Given the description of an element on the screen output the (x, y) to click on. 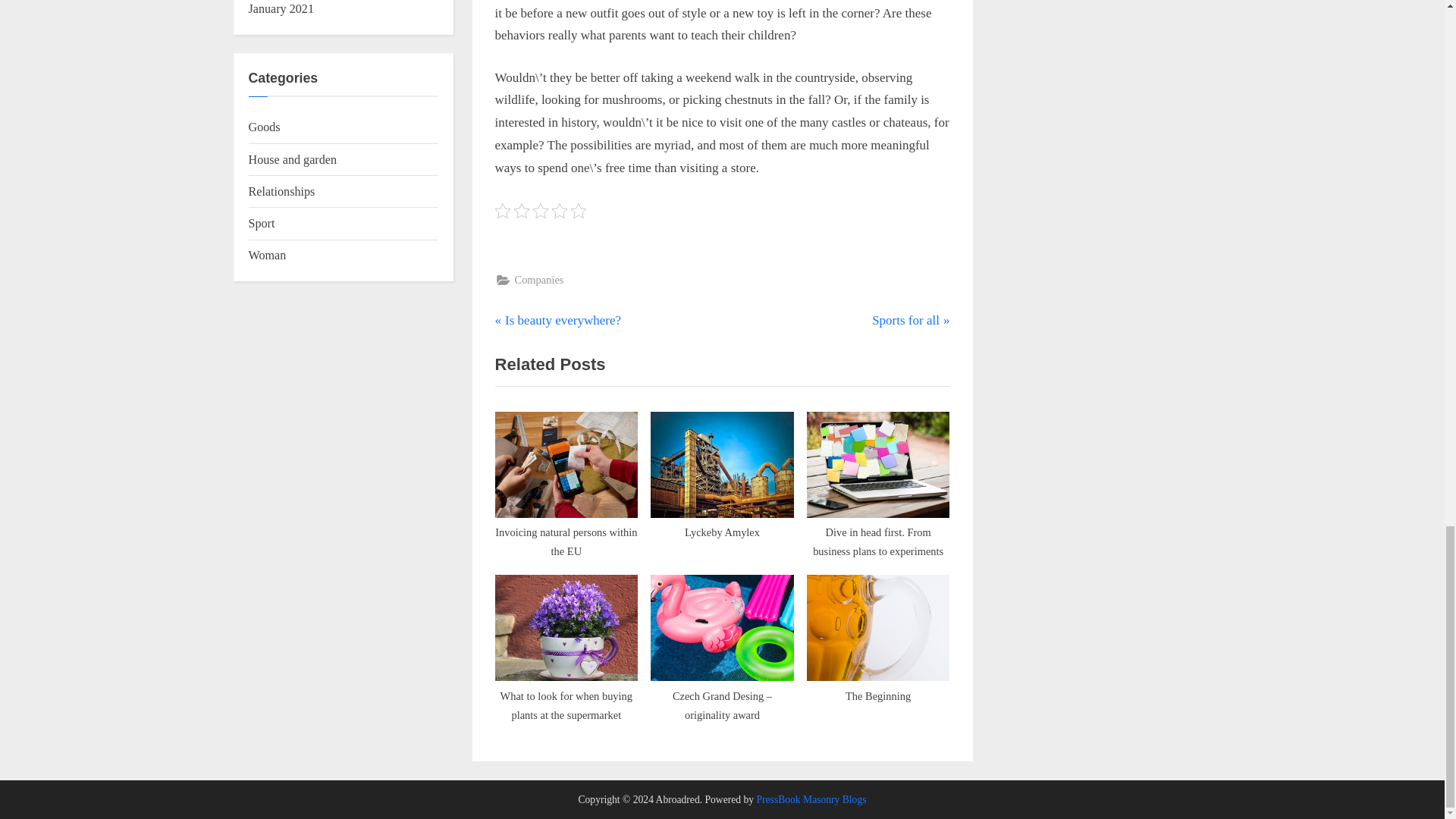
Invoicing natural persons within the EU (566, 483)
Dive in head first. From business plans to experiments (878, 483)
What to look for when buying plants at the supermarket (566, 646)
Companies (558, 320)
The Beginning (538, 280)
Lyckeby Amylex (878, 646)
